Given the description of an element on the screen output the (x, y) to click on. 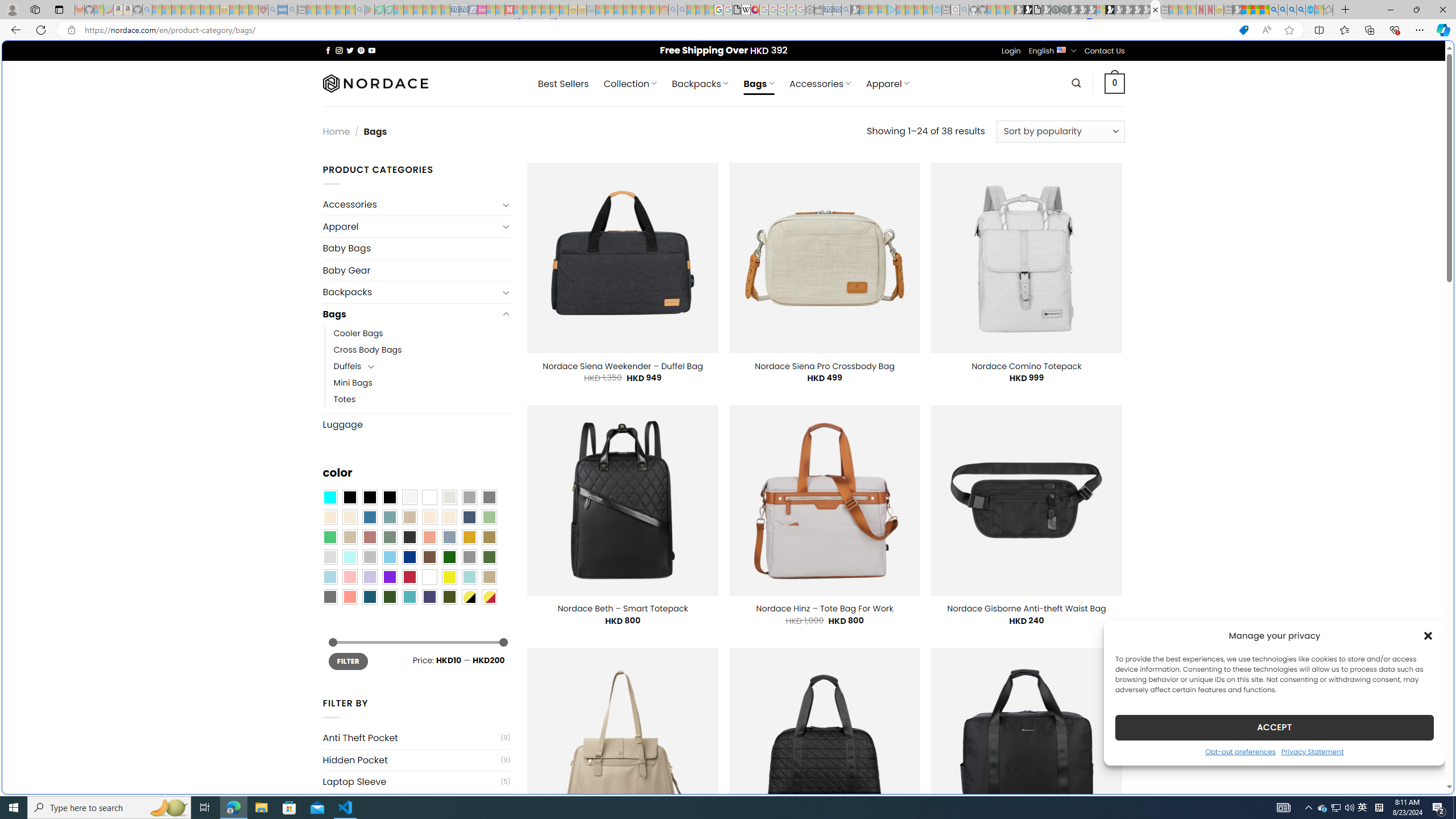
All Black (349, 497)
Brown (429, 557)
Nordace - Bags (1154, 9)
Baby Bags (416, 248)
Baby Gear (416, 270)
Purple (389, 577)
Cooler Bags (357, 333)
Black (369, 497)
